Given the description of an element on the screen output the (x, y) to click on. 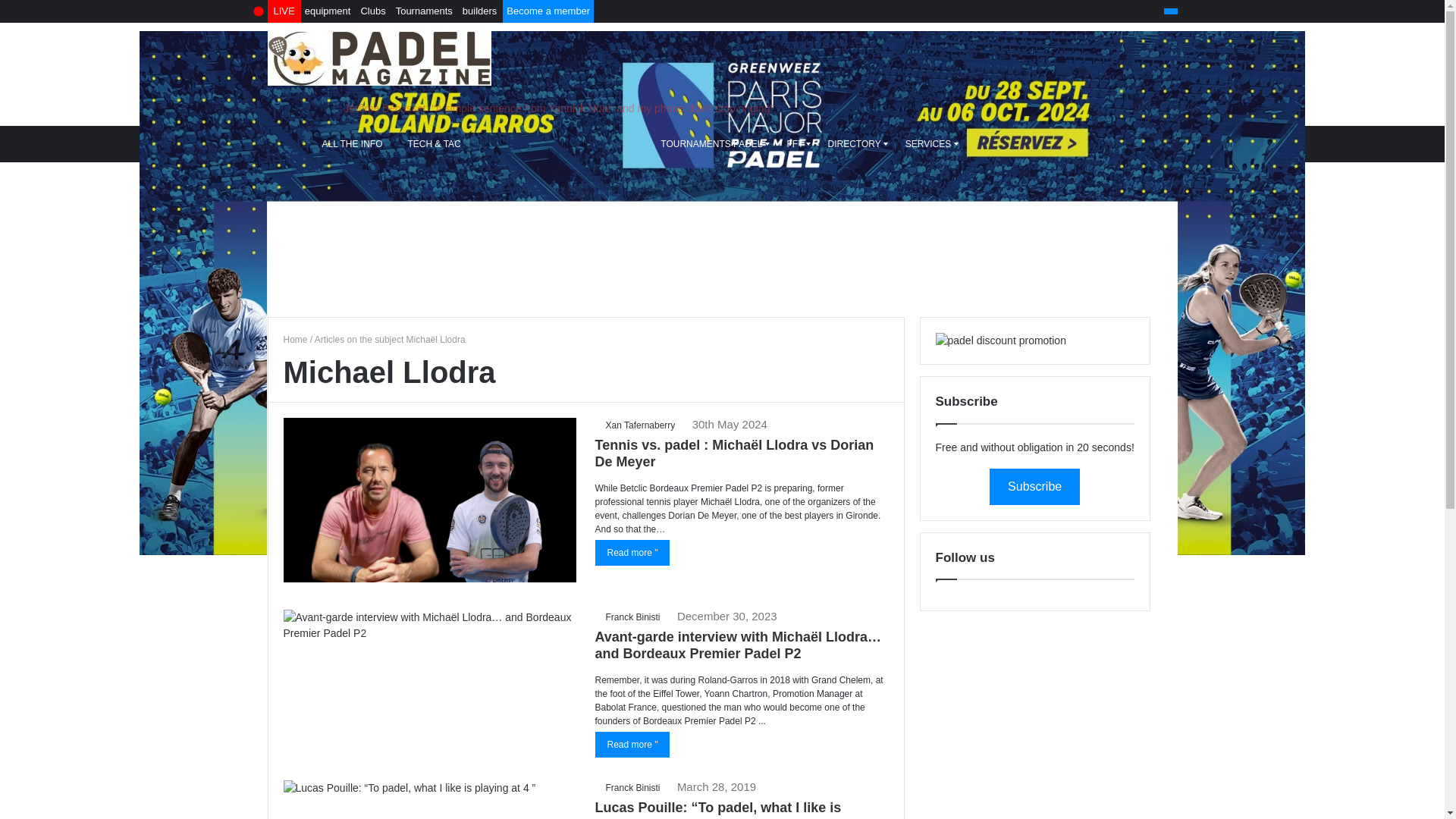
Clubs (372, 11)
Padel Magazine (295, 339)
HOME (289, 144)
Become a member (548, 11)
NEWS CLUBS (611, 144)
builders (479, 11)
equipment (328, 11)
Tournaments (424, 11)
ALL THE INFO (353, 144)
LIVE (283, 11)
